Given the description of an element on the screen output the (x, y) to click on. 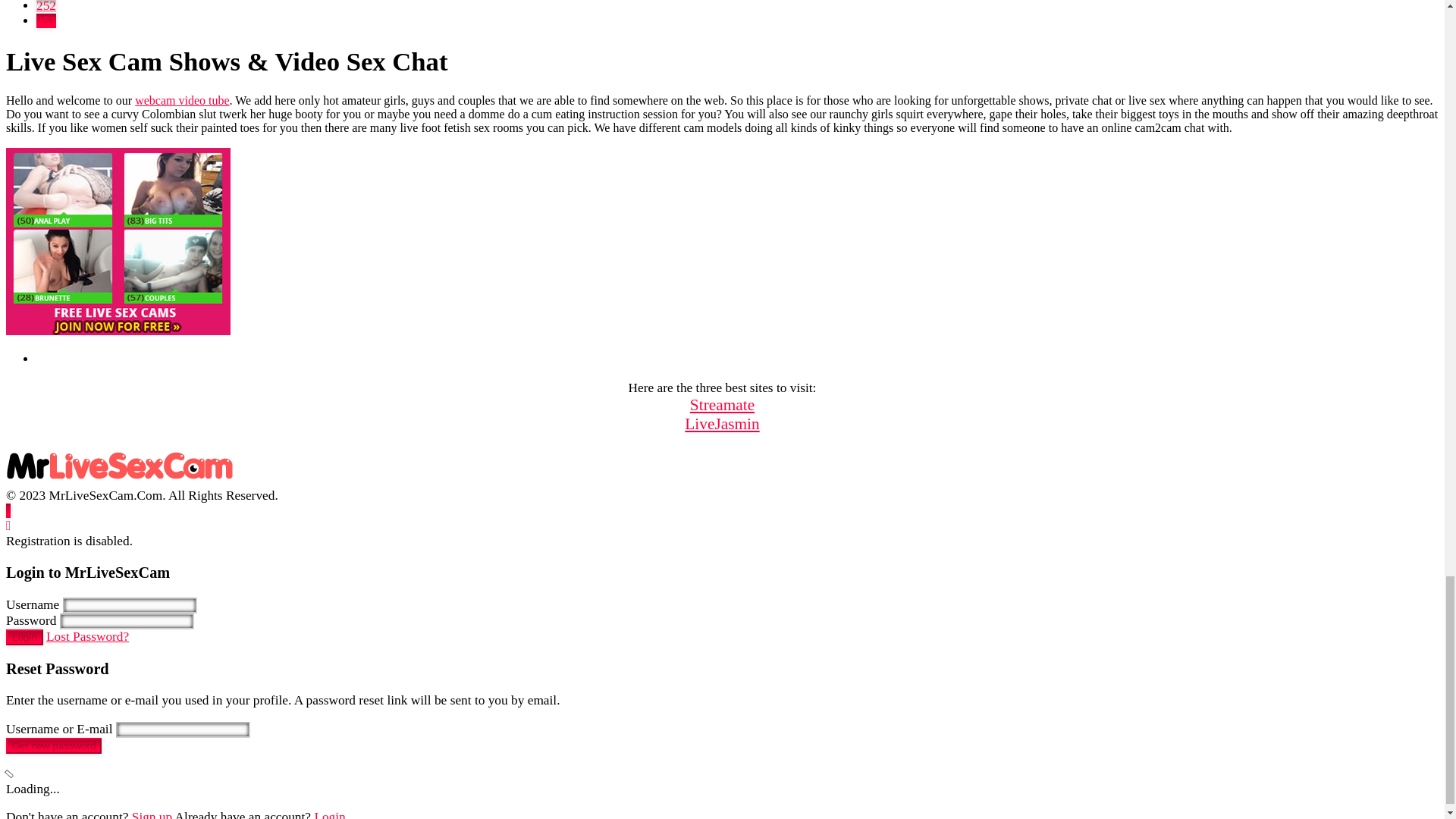
webcam video tube (181, 100)
Get new password (53, 745)
Streamate (722, 404)
Lost Password? (87, 636)
MrLiveSexCam (118, 480)
Login (24, 637)
253 (46, 20)
252 (46, 6)
LiveJasmin (721, 423)
